Given the description of an element on the screen output the (x, y) to click on. 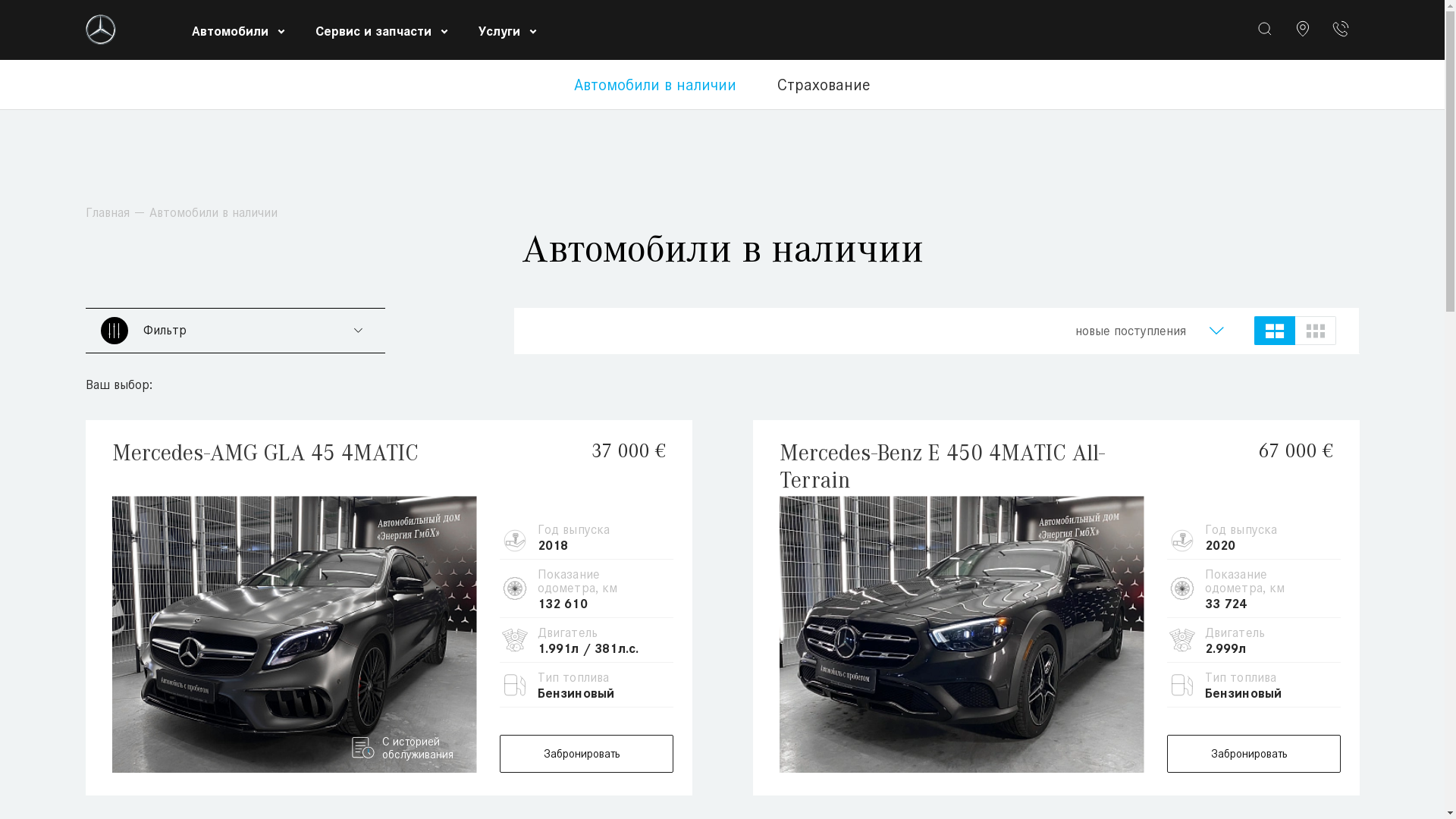
x3 Element type: text (1315, 330)
Mercedes-Benz E 450 4MATIC All-Terrain Element type: text (975, 467)
x2 Element type: text (1274, 330)
Mercedes-Benz E 450 4MATIC All-Terrain Element type: hover (961, 633)
Mercedes-AMG GLA 45 4MATIC Element type: hover (294, 633)
Mercedes-AMG GLA 45 4MATIC Element type: text (308, 467)
